Given the description of an element on the screen output the (x, y) to click on. 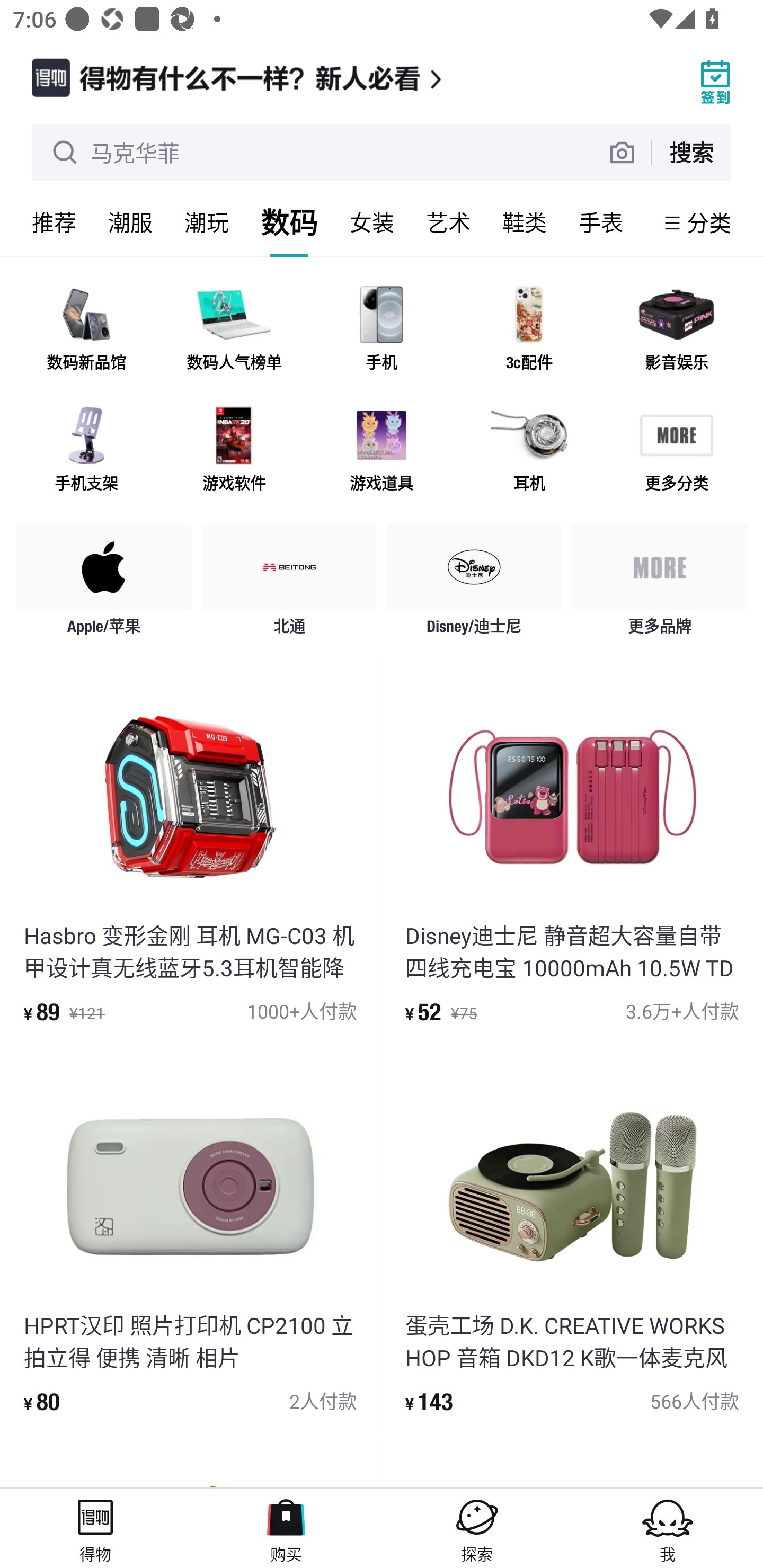
搜索 (690, 152)
推荐 (54, 222)
潮服 (130, 222)
潮玩 (206, 222)
数码 (289, 222)
女装 (372, 222)
艺术 (448, 222)
鞋类 (524, 222)
手表 (601, 222)
分类 (708, 222)
数码新品馆 (86, 329)
数码人气榜单 (233, 329)
手机 (381, 329)
3c配件 (528, 329)
影音娱乐 (676, 329)
手机支架 (86, 450)
游戏软件 (233, 450)
游戏道具 (381, 450)
耳机 (528, 450)
更多分类 (676, 450)
Apple/苹果 (103, 583)
北通 (288, 583)
Disney/迪士尼 (473, 583)
更多品牌 (658, 583)
得物 (95, 1528)
购买 (285, 1528)
探索 (476, 1528)
我 (667, 1528)
